Given the description of an element on the screen output the (x, y) to click on. 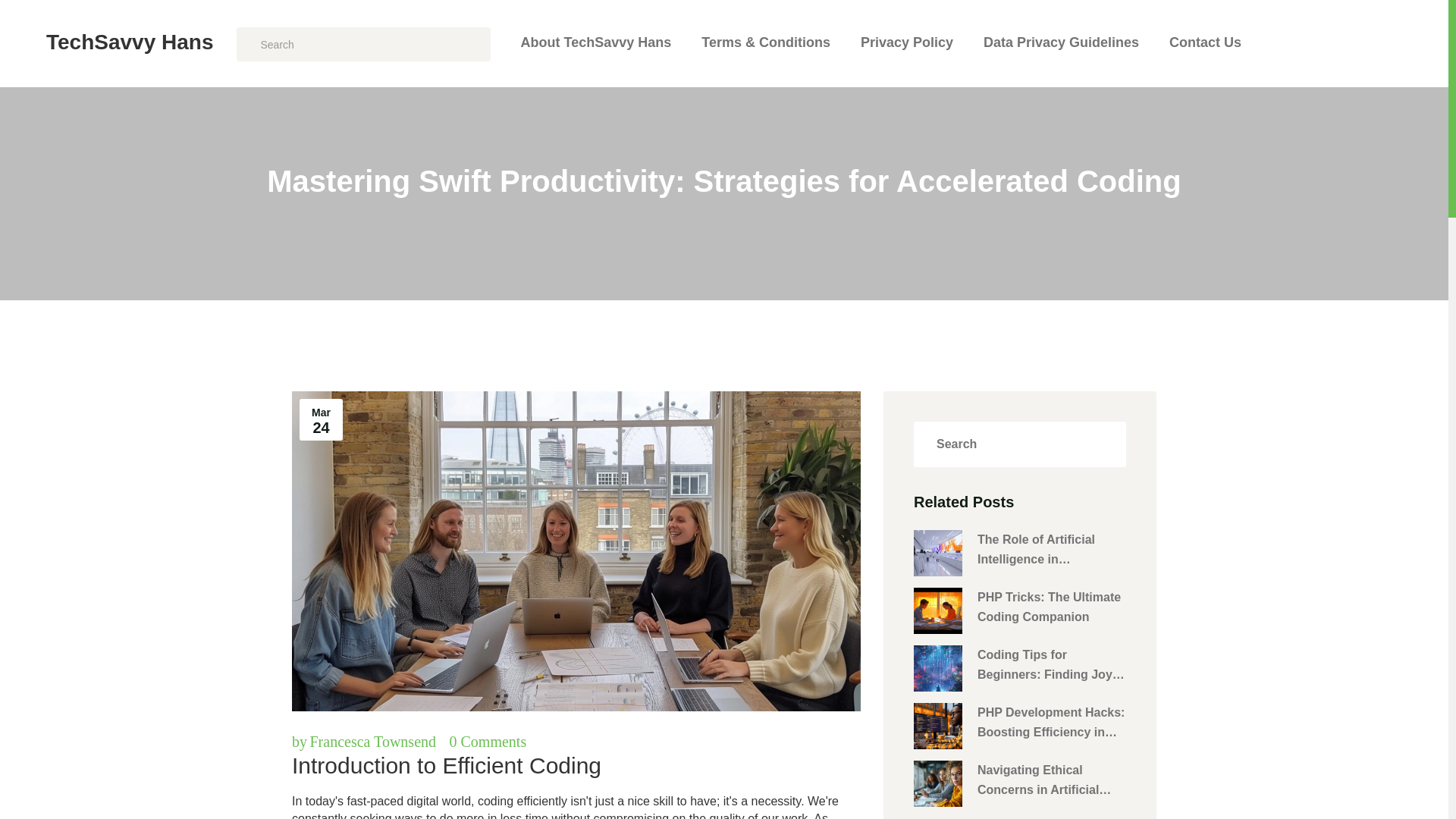
PHP Tricks: The Ultimate Coding Companion (1050, 608)
Privacy Policy (906, 42)
About TechSavvy Hans (595, 42)
Contact Us (1205, 42)
PHP Development Hacks: Boosting Efficiency in Web Projects (1050, 722)
TechSavvy Hans (124, 46)
Francesca Townsend (371, 741)
Data Privacy Guidelines (1061, 42)
